Given the description of an element on the screen output the (x, y) to click on. 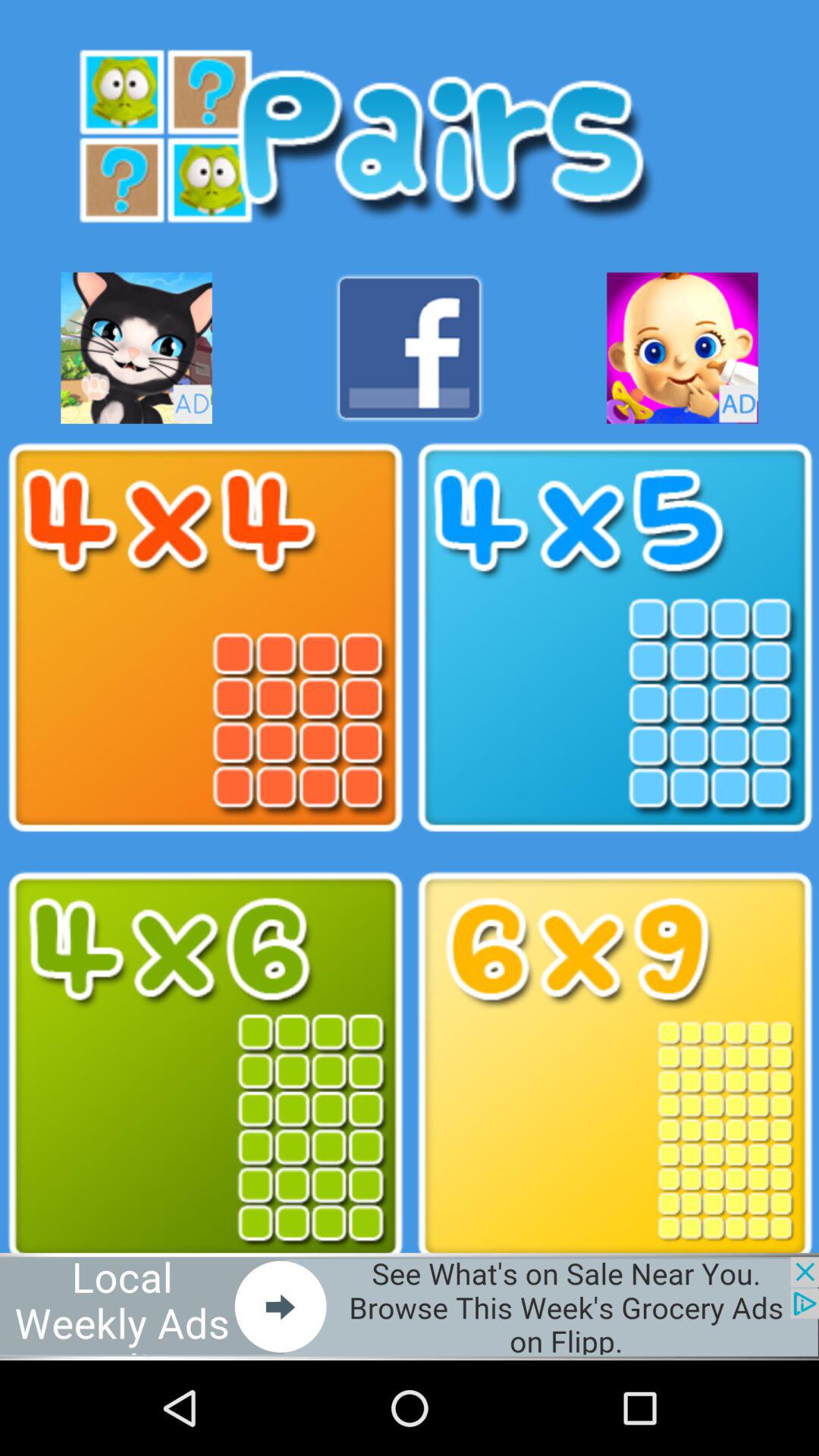
click on game (204, 1066)
